Given the description of an element on the screen output the (x, y) to click on. 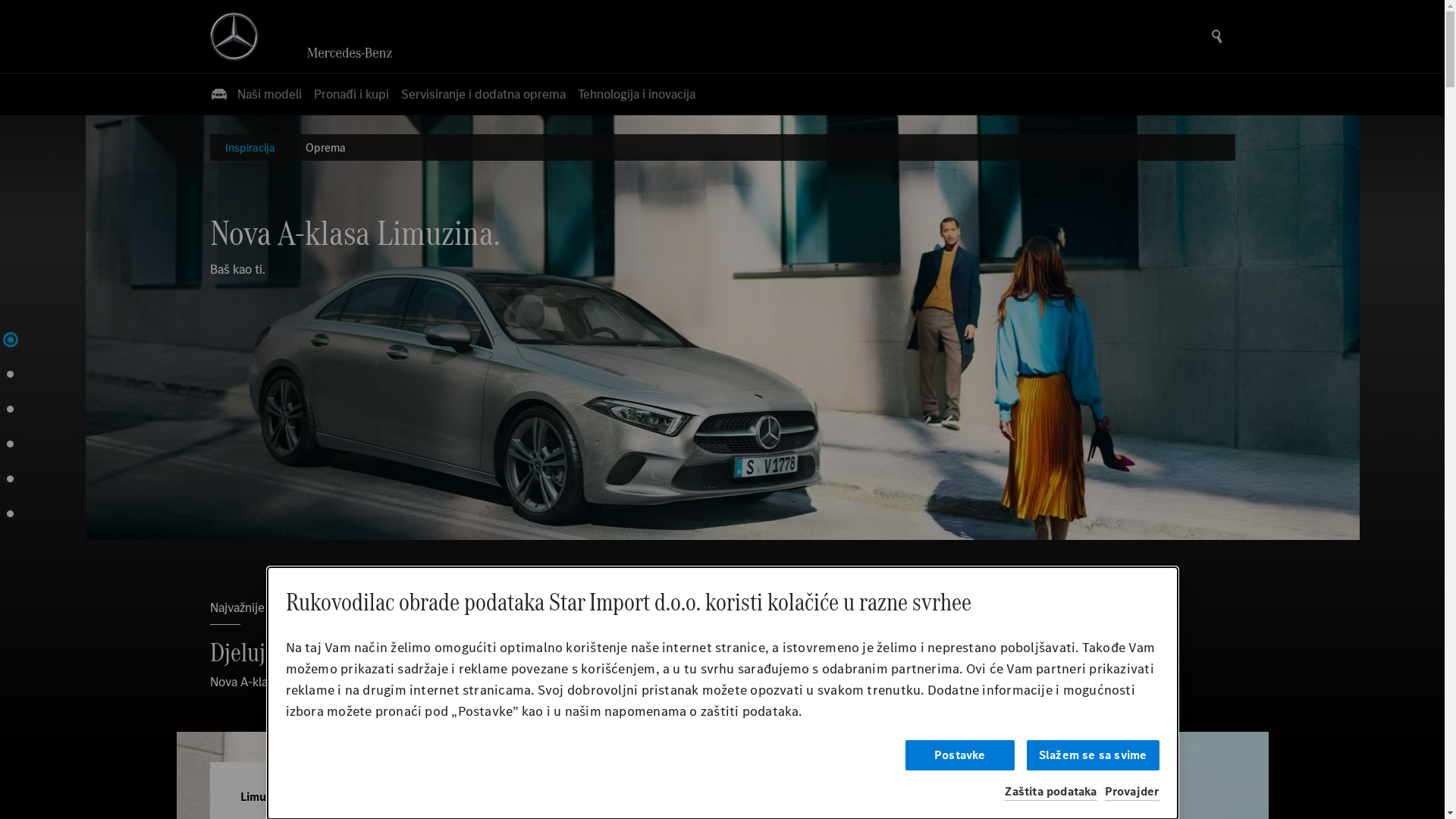
Inspiracija Element type: text (249, 147)
Oprema Element type: text (324, 147)
Mercedes-Benz Brandmark Element type: hover (354, 52)
Mercedes Benz Logo Element type: hover (233, 36)
Servisiranje i dodatna oprema Element type: text (482, 93)
Tehnologija i inovacija Element type: text (636, 93)
